Given the description of an element on the screen output the (x, y) to click on. 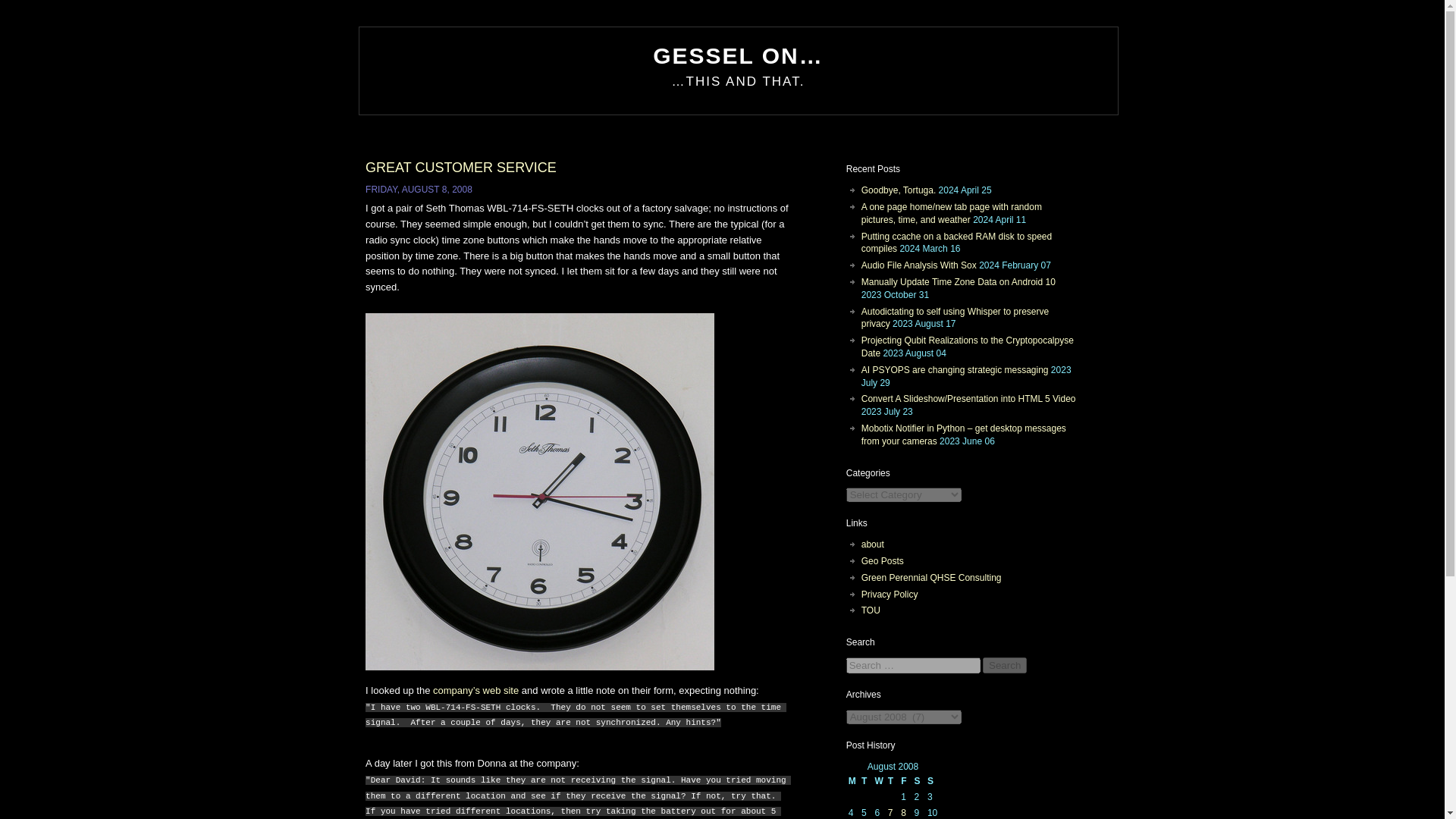
Map those posts (882, 561)
Autodictating to self using Whisper to preserve privacy (954, 318)
Projecting Qubit Realizations to the Cryptopocalpyse Date (967, 346)
TOU (870, 610)
Search (1004, 665)
Seth Thomas web site (475, 690)
GREAT CUSTOMER SERVICE (460, 167)
Goodbye, Tortuga. (898, 190)
Geo Posts (882, 561)
Terms of use (870, 610)
